Given the description of an element on the screen output the (x, y) to click on. 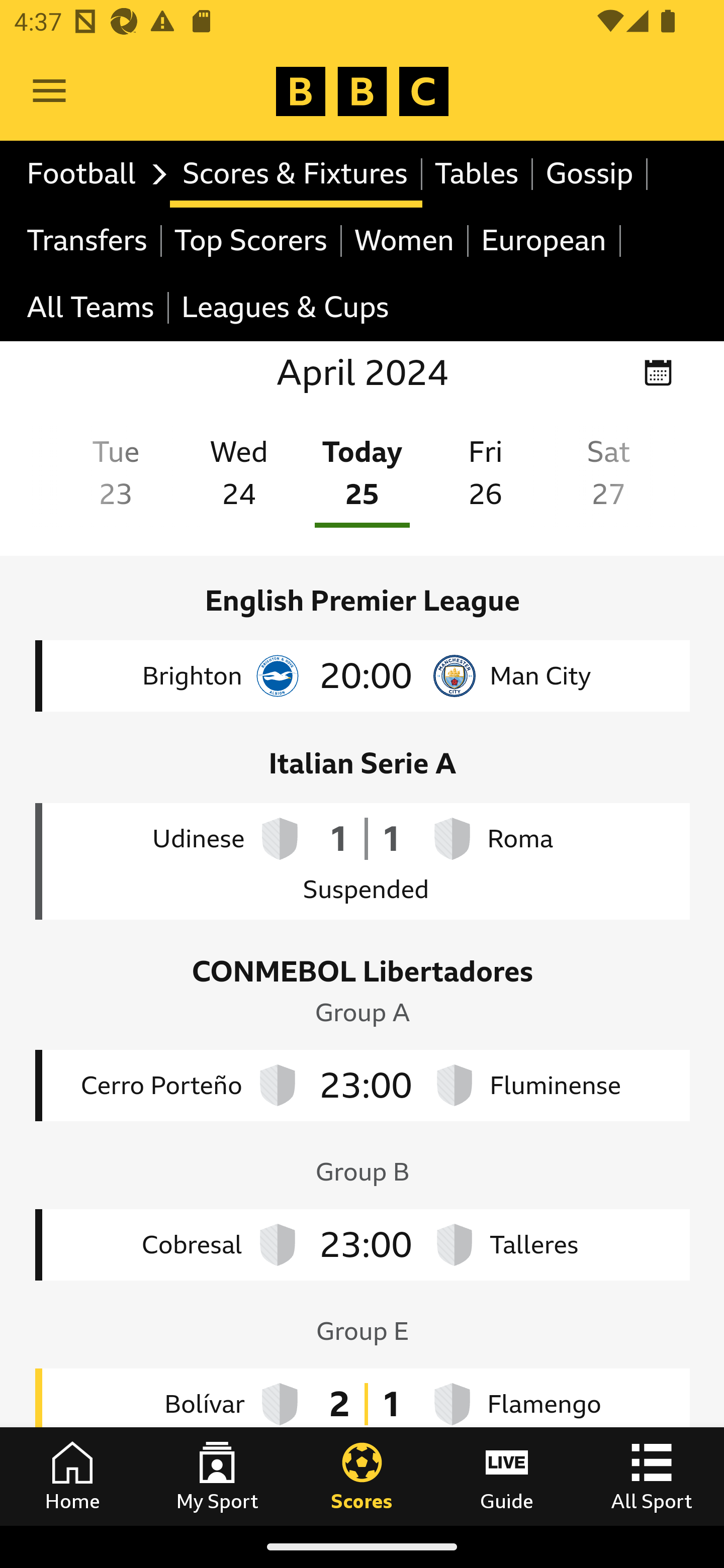
Open Menu (49, 91)
Football (91, 173)
Scores & Fixtures (295, 173)
Tables (477, 173)
Gossip (590, 173)
Transfers (88, 240)
Top Scorers (251, 240)
Women (405, 240)
European (544, 240)
All Teams (91, 308)
Leagues & Cups (284, 308)
Home (72, 1475)
My Sport (216, 1475)
Guide (506, 1475)
All Sport (651, 1475)
